Given the description of an element on the screen output the (x, y) to click on. 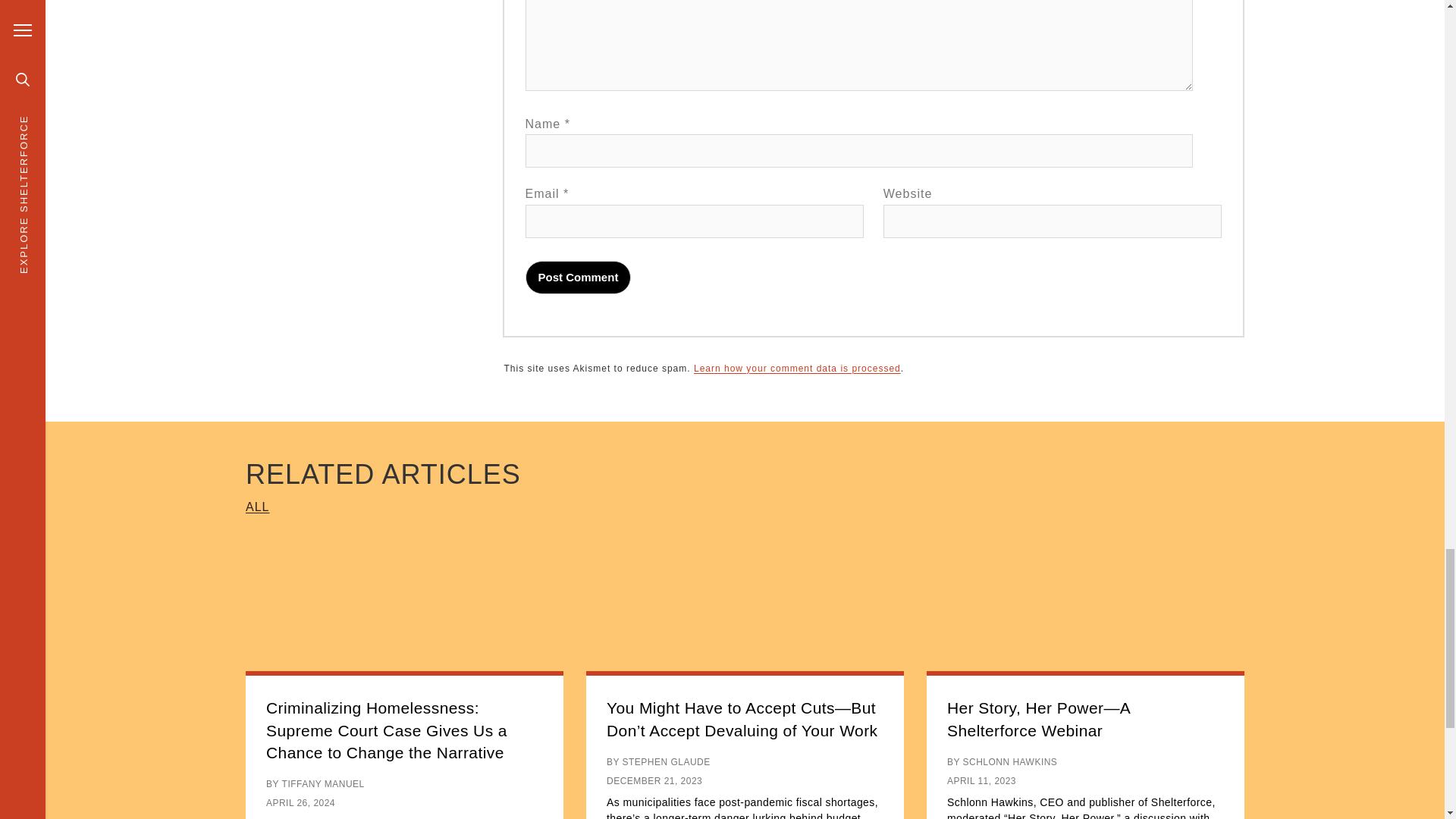
Post Comment (578, 277)
